Given the description of an element on the screen output the (x, y) to click on. 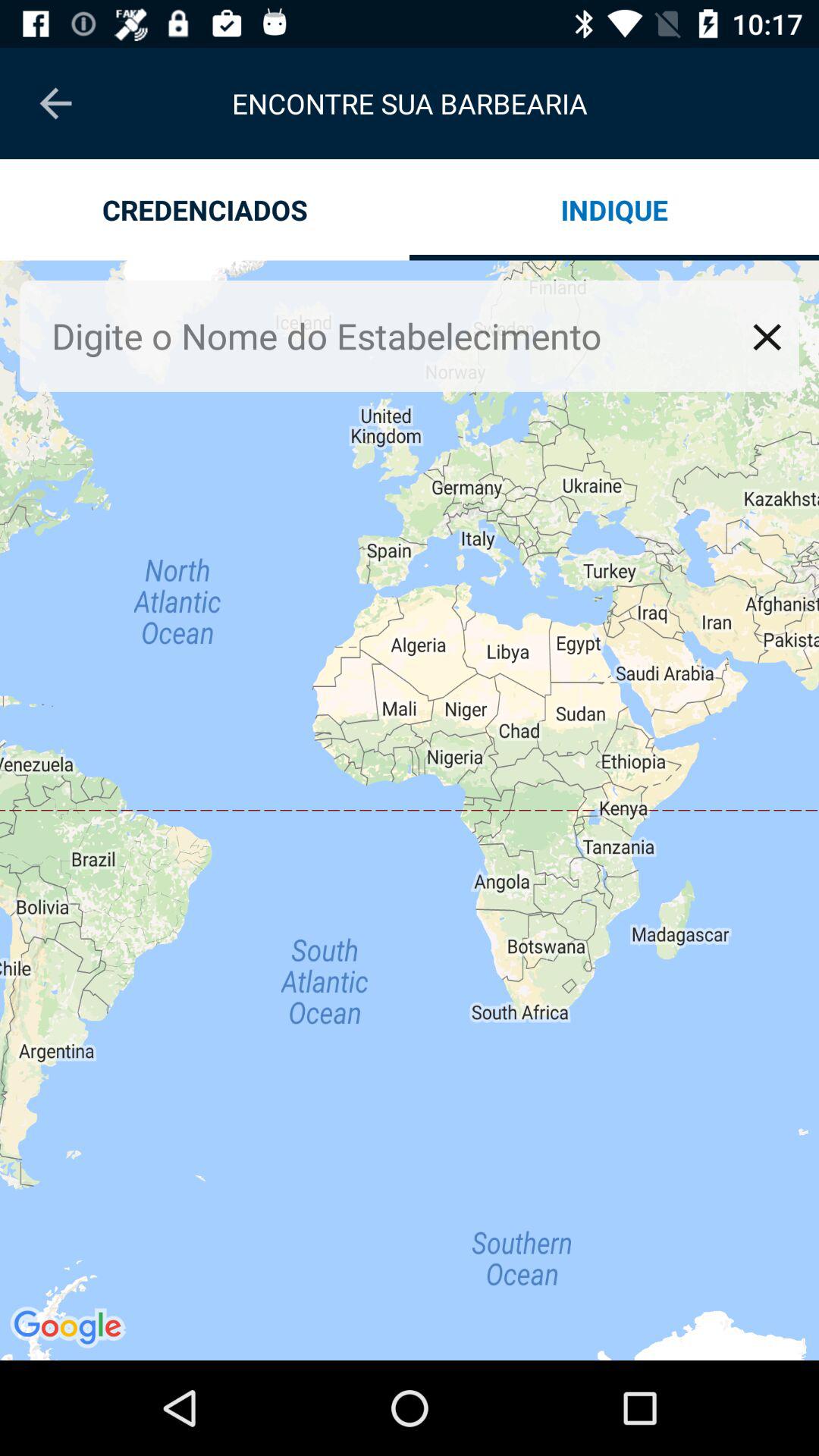
clear search (767, 337)
